Given the description of an element on the screen output the (x, y) to click on. 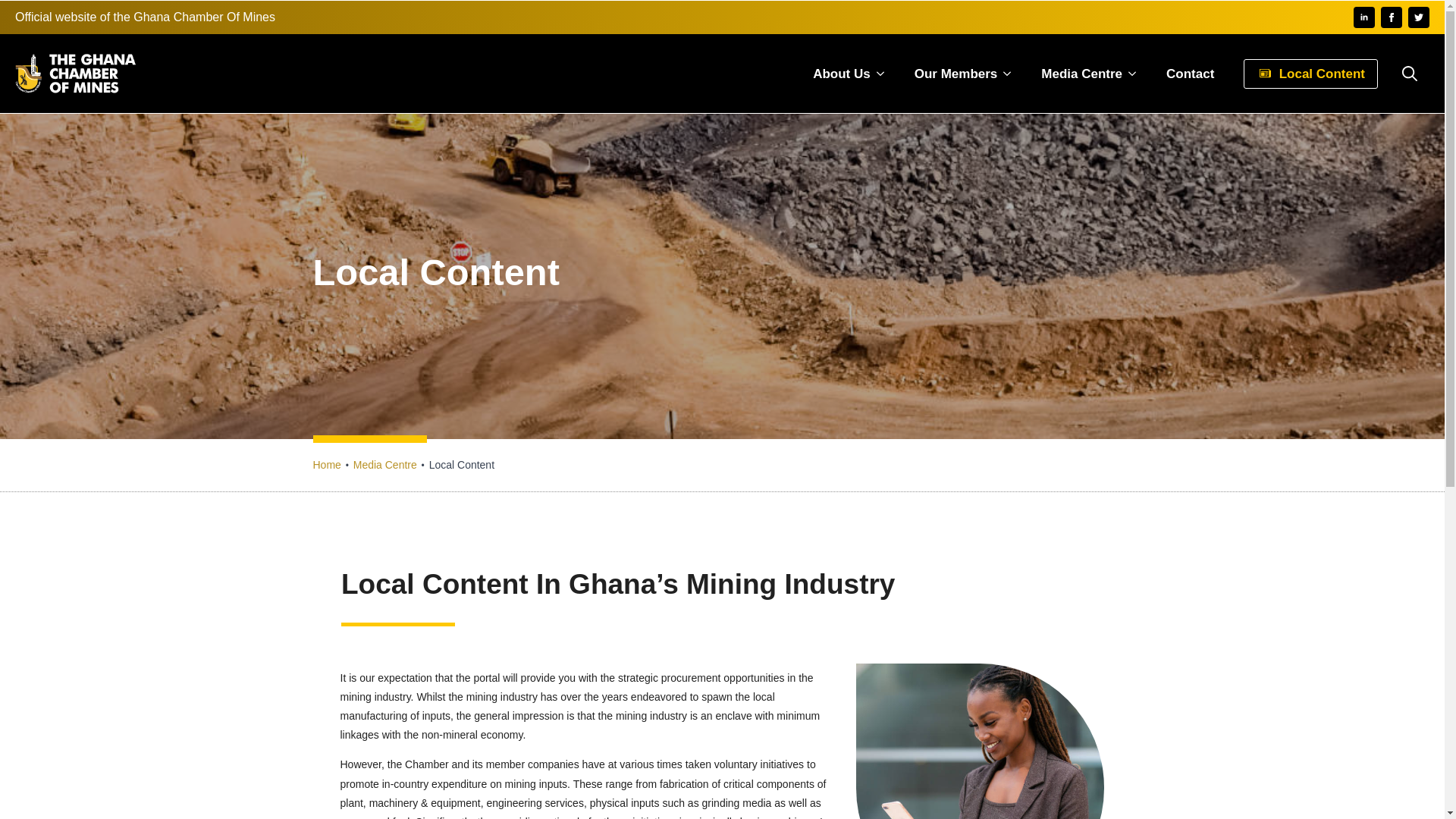
Home (326, 464)
About Us (835, 72)
Our Members (949, 72)
Local Content (1310, 73)
Media Centre (1075, 72)
Media Centre (384, 464)
Contact (1189, 72)
